Given the description of an element on the screen output the (x, y) to click on. 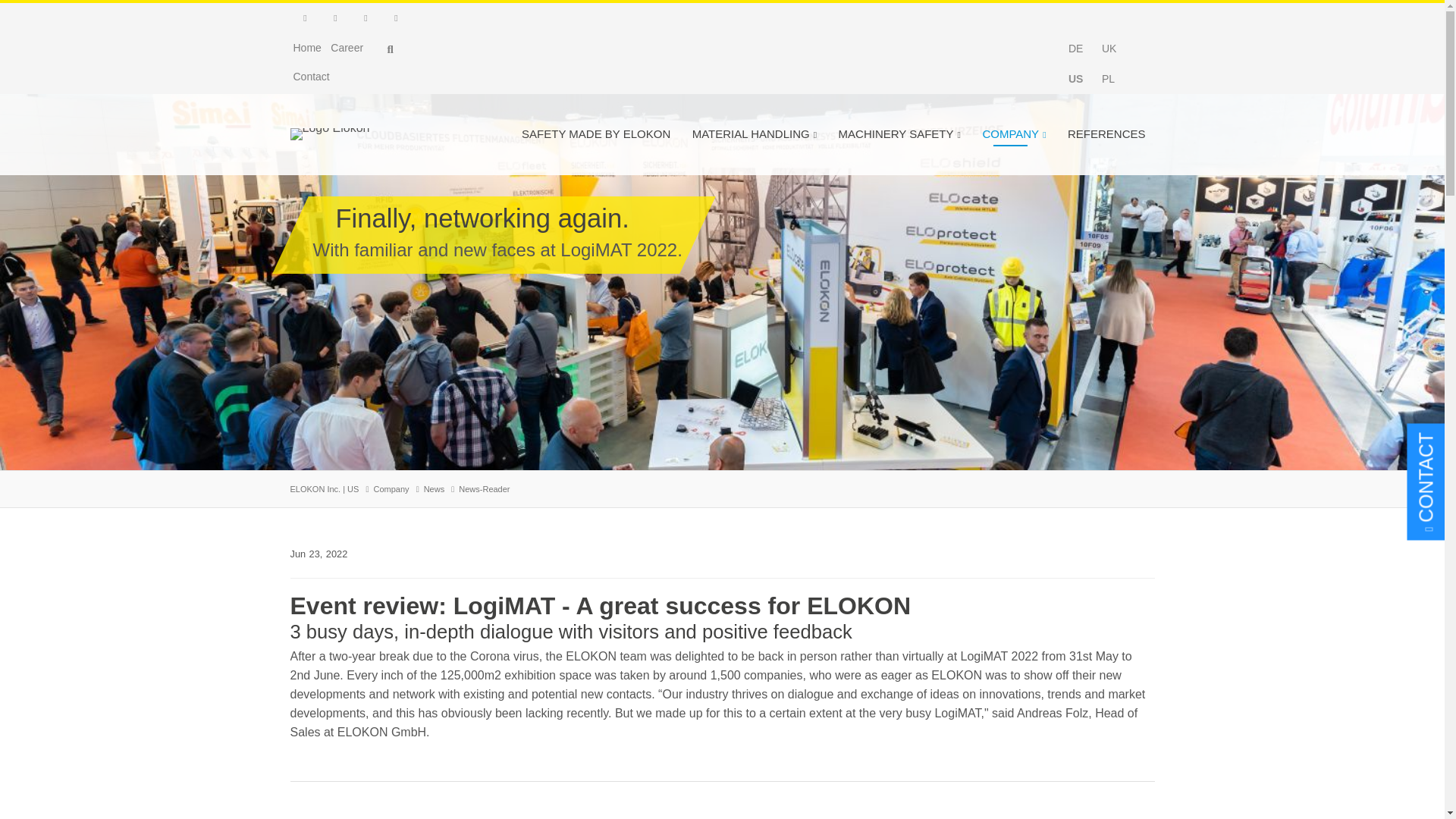
YouTube (395, 18)
News-Reader (1108, 78)
LinkedIn (304, 18)
Career (346, 47)
Career (346, 47)
Facebook (335, 18)
Elokon (329, 133)
Twitter (365, 18)
Home (306, 47)
